Given the description of an element on the screen output the (x, y) to click on. 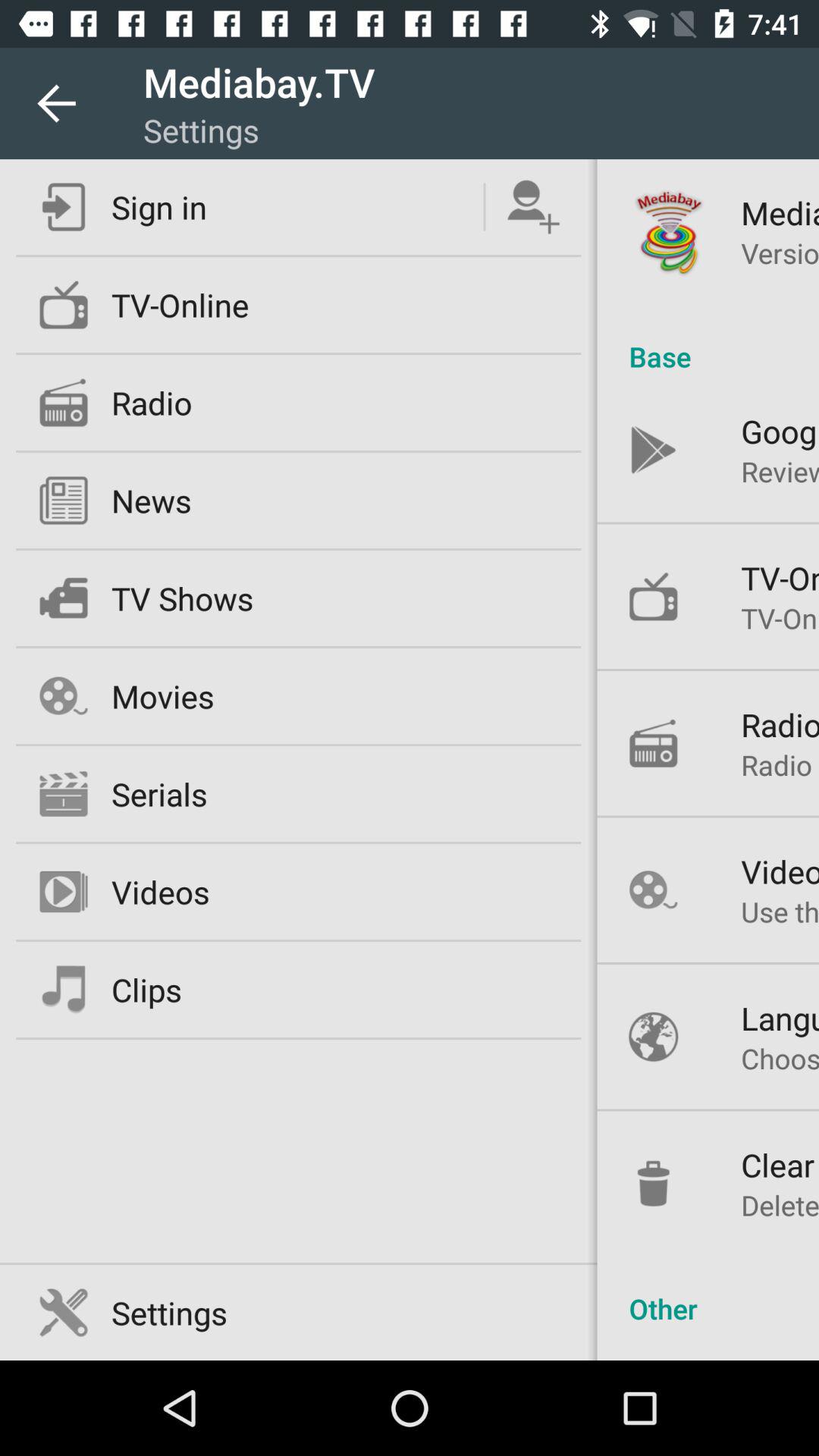
select icon above delete data and icon (780, 1164)
